Given the description of an element on the screen output the (x, y) to click on. 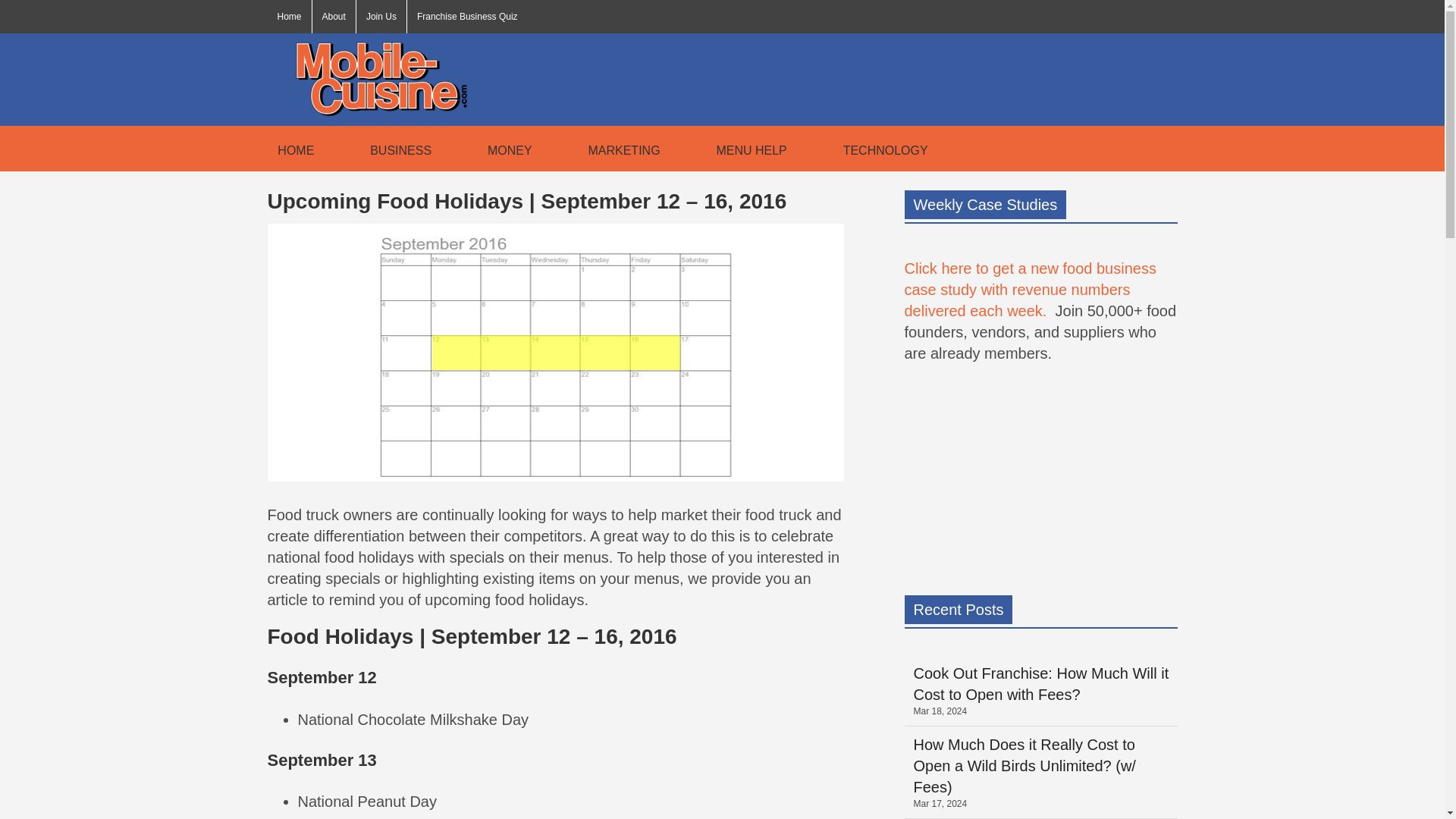
BUSINESS (394, 148)
MARKETING (619, 148)
HOME (290, 148)
Franchise Business Quiz (467, 16)
TECHNOLOGY (880, 148)
Join Us (381, 16)
Home (288, 16)
MENU HELP (746, 148)
About (334, 16)
MONEY (504, 148)
